Given the description of an element on the screen output the (x, y) to click on. 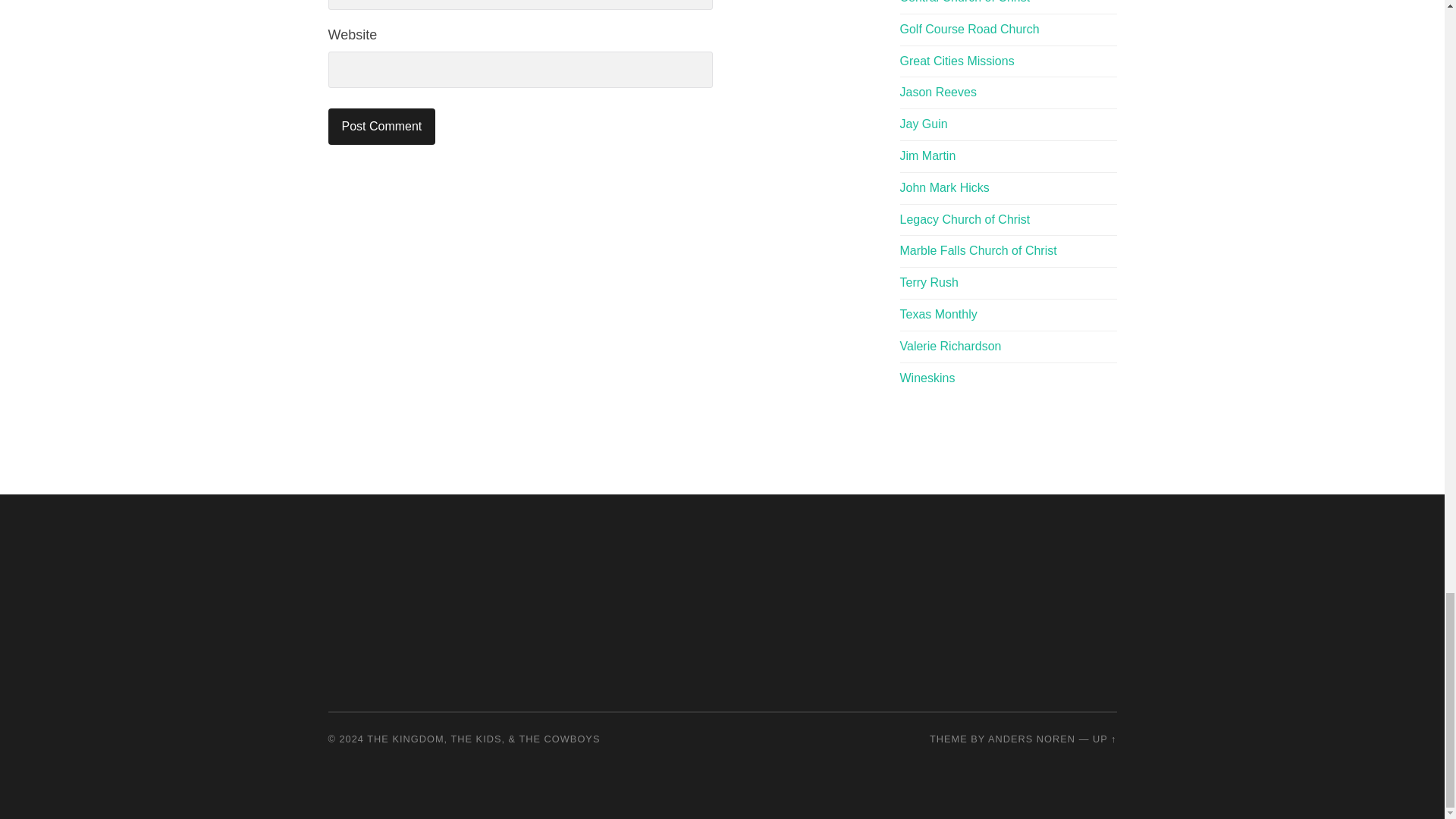
Legacy Church of Christ in North Richland Hills, Texas (964, 219)
John Mark Hicks Ministries (943, 187)
One in Jesus (923, 123)
God Hungry (927, 155)
To the top (1104, 738)
The Kitchen Sink (950, 345)
Morning Rush (928, 282)
GCR Church (969, 29)
Exploring the Heart of Restoration (927, 377)
The National Magazine of Texas (937, 314)
